Given the description of an element on the screen output the (x, y) to click on. 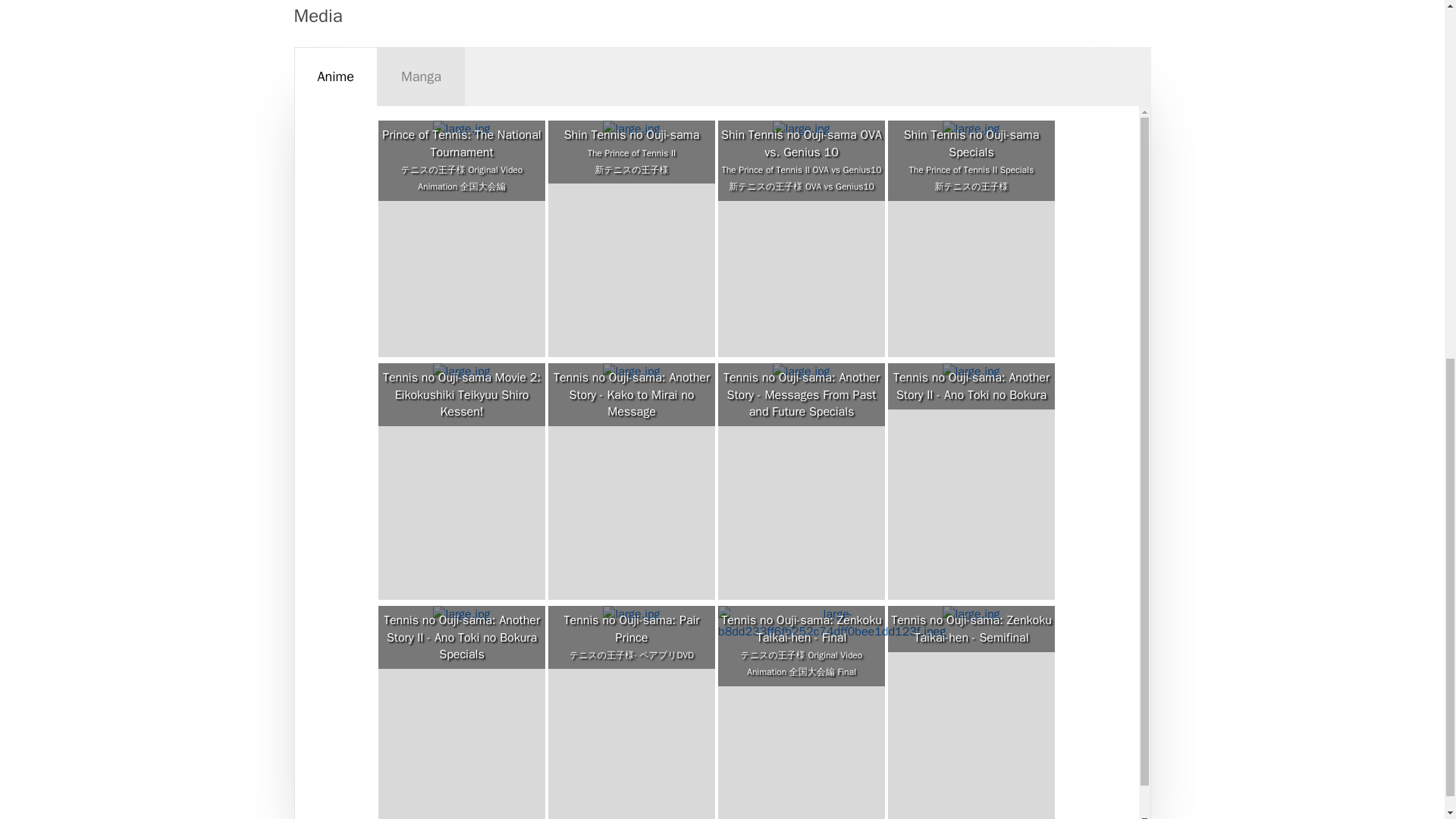
Tennis no Ouji-sama: Zenkoku Taikai-hen - Semifinal (971, 628)
Tennis no Ouji-sama: Another Story II - Ano Toki no Bokura (971, 386)
